Given the description of an element on the screen output the (x, y) to click on. 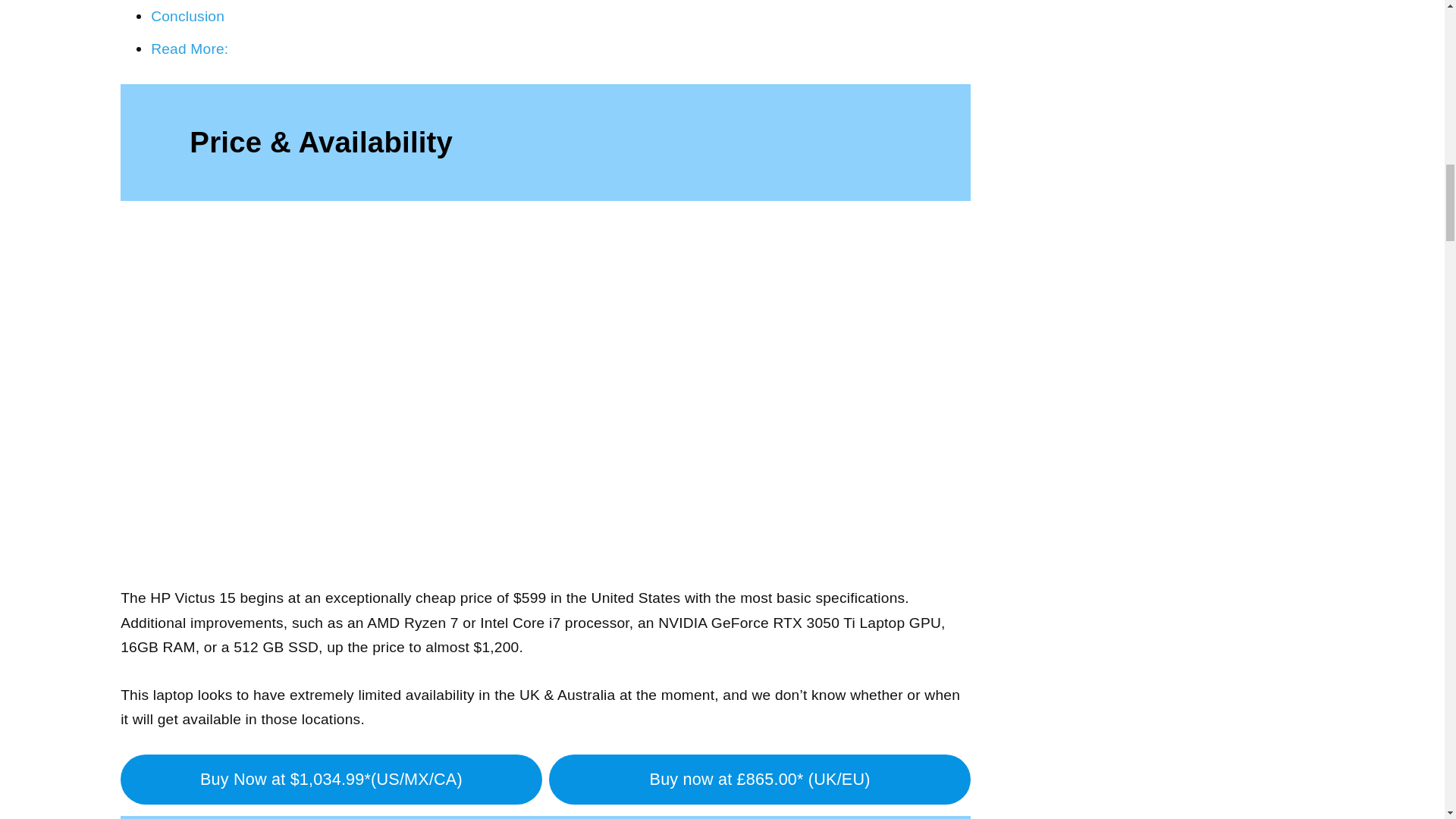
Conclusion (187, 16)
Read More: (189, 48)
